Given the description of an element on the screen output the (x, y) to click on. 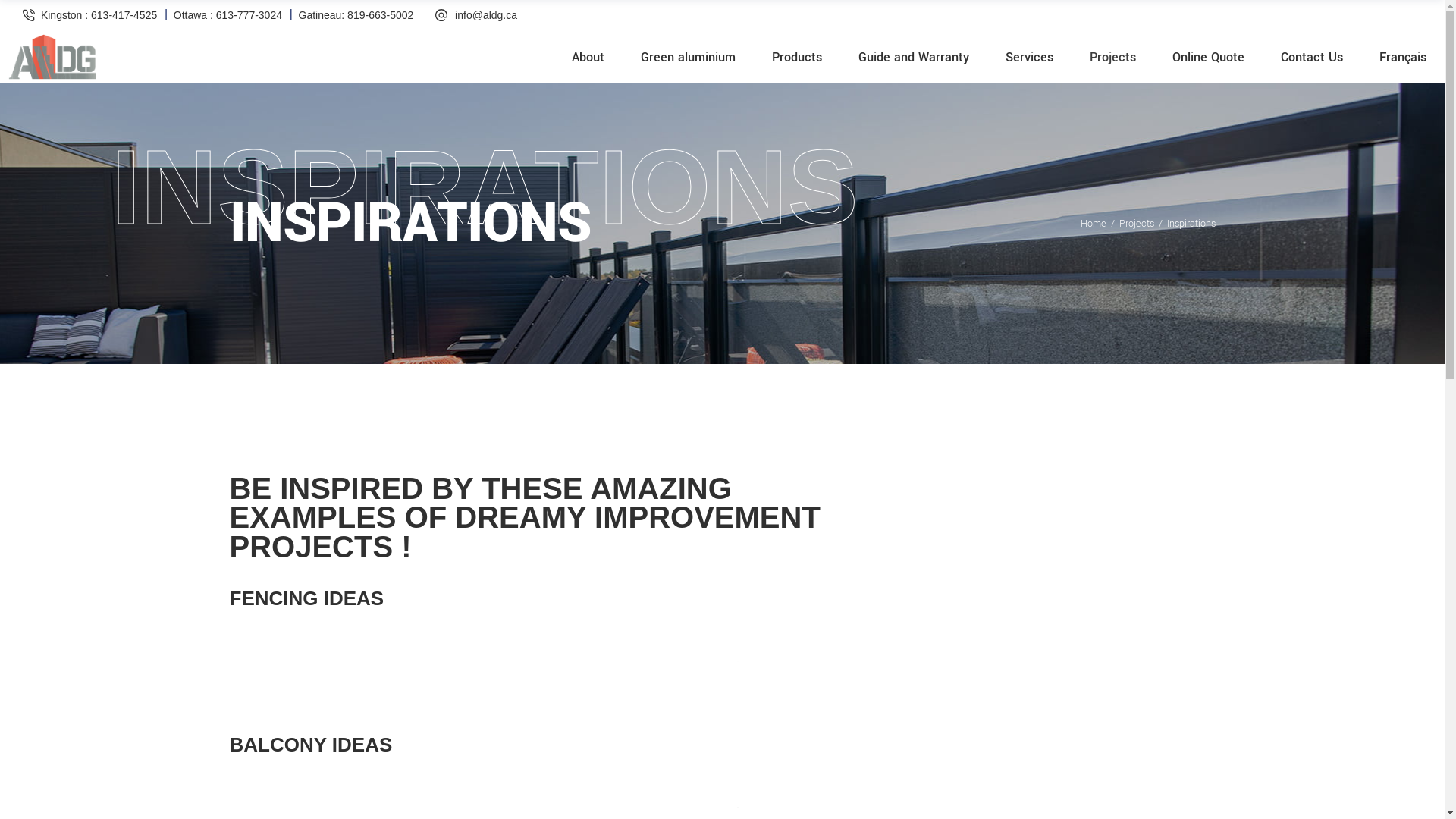
Products Element type: text (796, 56)
Home Element type: text (1092, 223)
About Element type: text (587, 56)
Gatineau: 819-663-5002 Element type: text (356, 15)
info@aldg.ca Element type: text (486, 15)
Ottawa : 613-777-3024 Element type: text (227, 15)
Services Element type: text (1029, 56)
Contact Us Element type: text (1311, 56)
Online Quote Element type: text (1208, 56)
Guide and Warranty Element type: text (913, 56)
Projects Element type: text (1112, 56)
Projects Element type: text (1136, 223)
Green aluminium Element type: text (687, 56)
Kingston : 613-417-4525 Element type: text (98, 15)
